Given the description of an element on the screen output the (x, y) to click on. 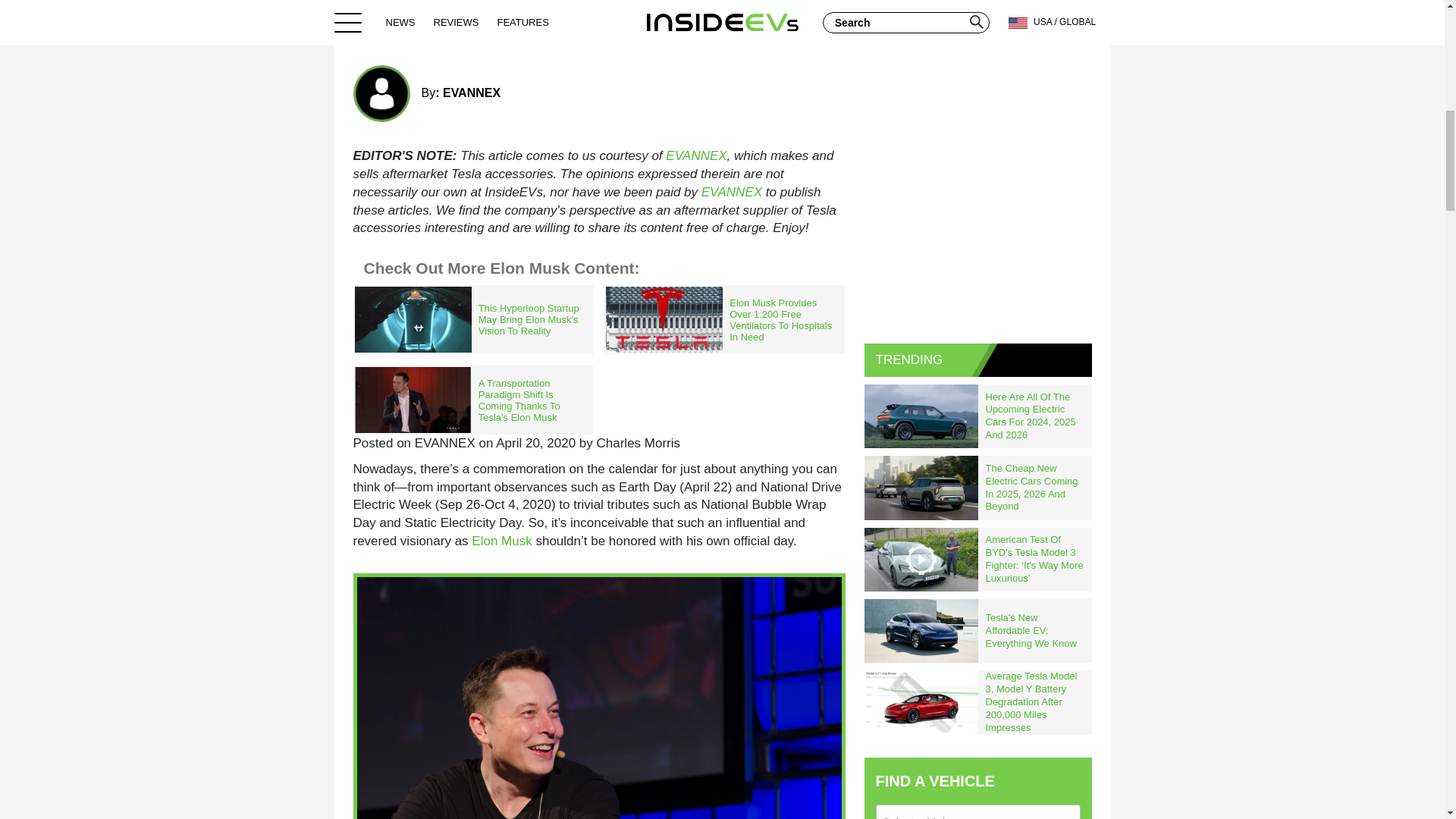
0 (826, 30)
EVANNEX (471, 92)
EVANNEX (731, 192)
EVANNEX (695, 155)
Elon Musk (501, 540)
